Given the description of an element on the screen output the (x, y) to click on. 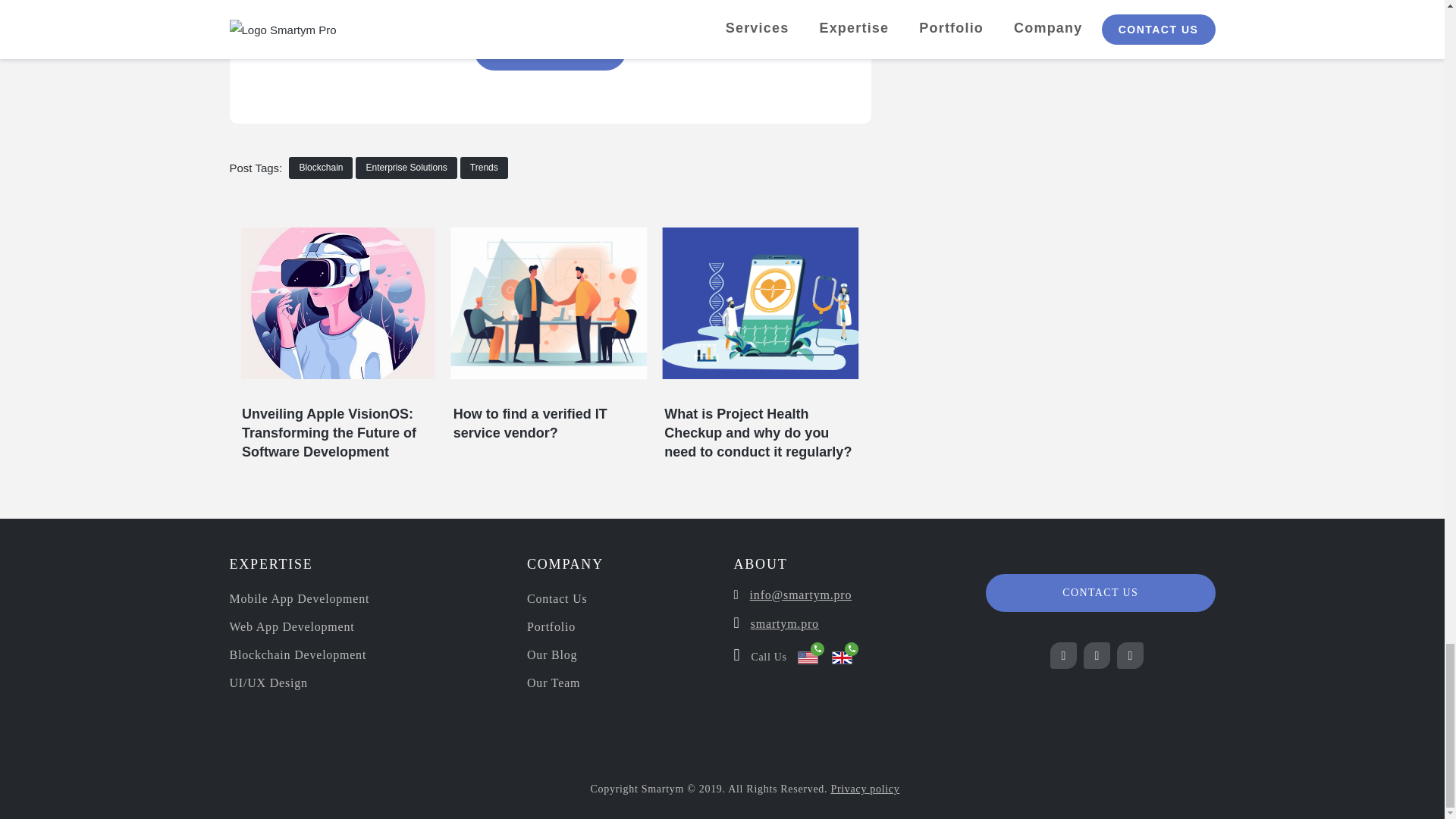
SUBSCRIBE (550, 49)
